Given the description of an element on the screen output the (x, y) to click on. 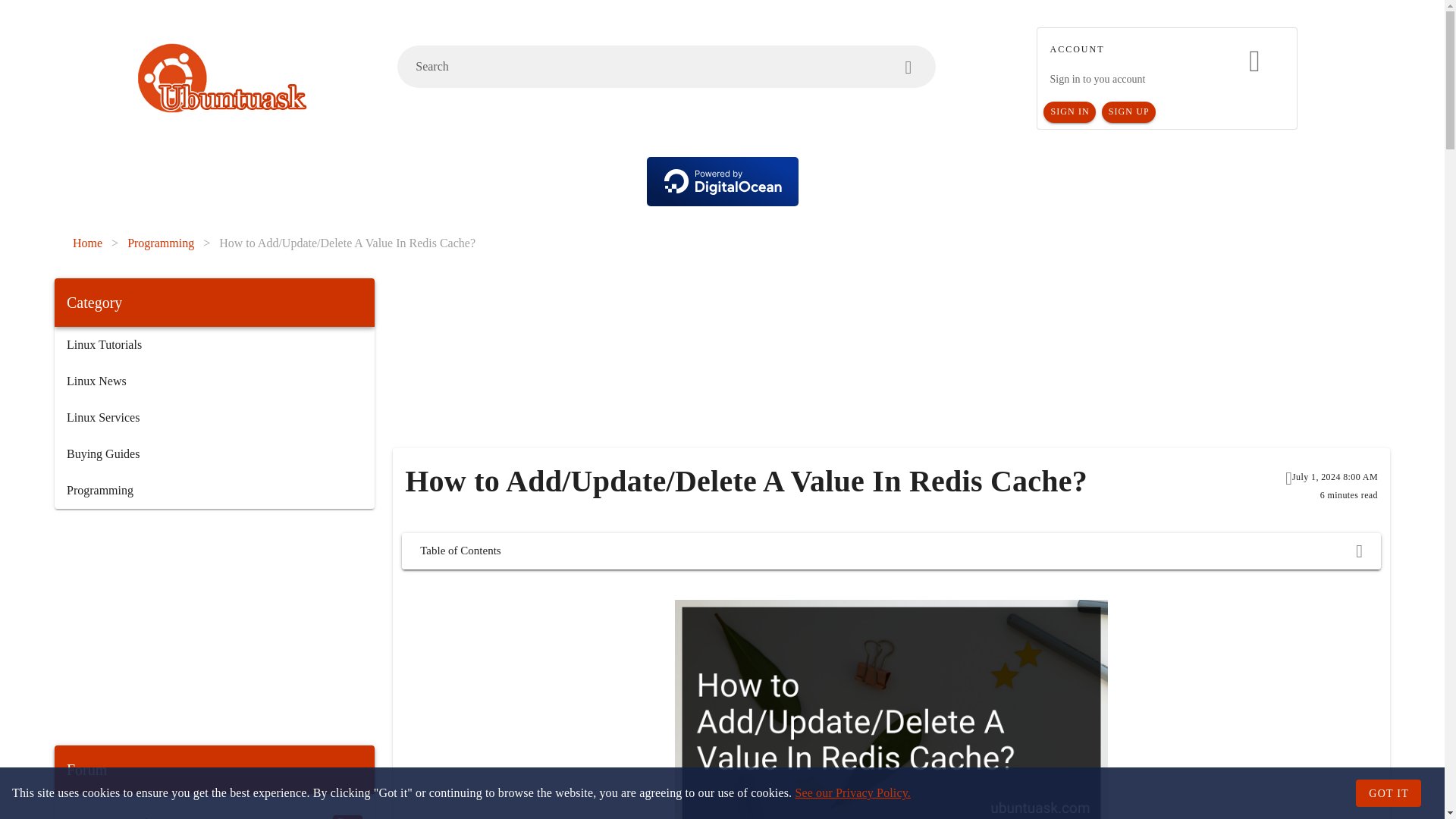
Linux News (214, 381)
Buying Guides (214, 453)
Programming (214, 490)
Table of Contents (890, 551)
Linux Services (214, 417)
SIGN UP (1129, 111)
Advertisement (214, 626)
Home (86, 243)
Programming (160, 243)
Advertisement (766, 362)
SIGN IN (1068, 111)
Linux Tutorials (214, 344)
